Given the description of an element on the screen output the (x, y) to click on. 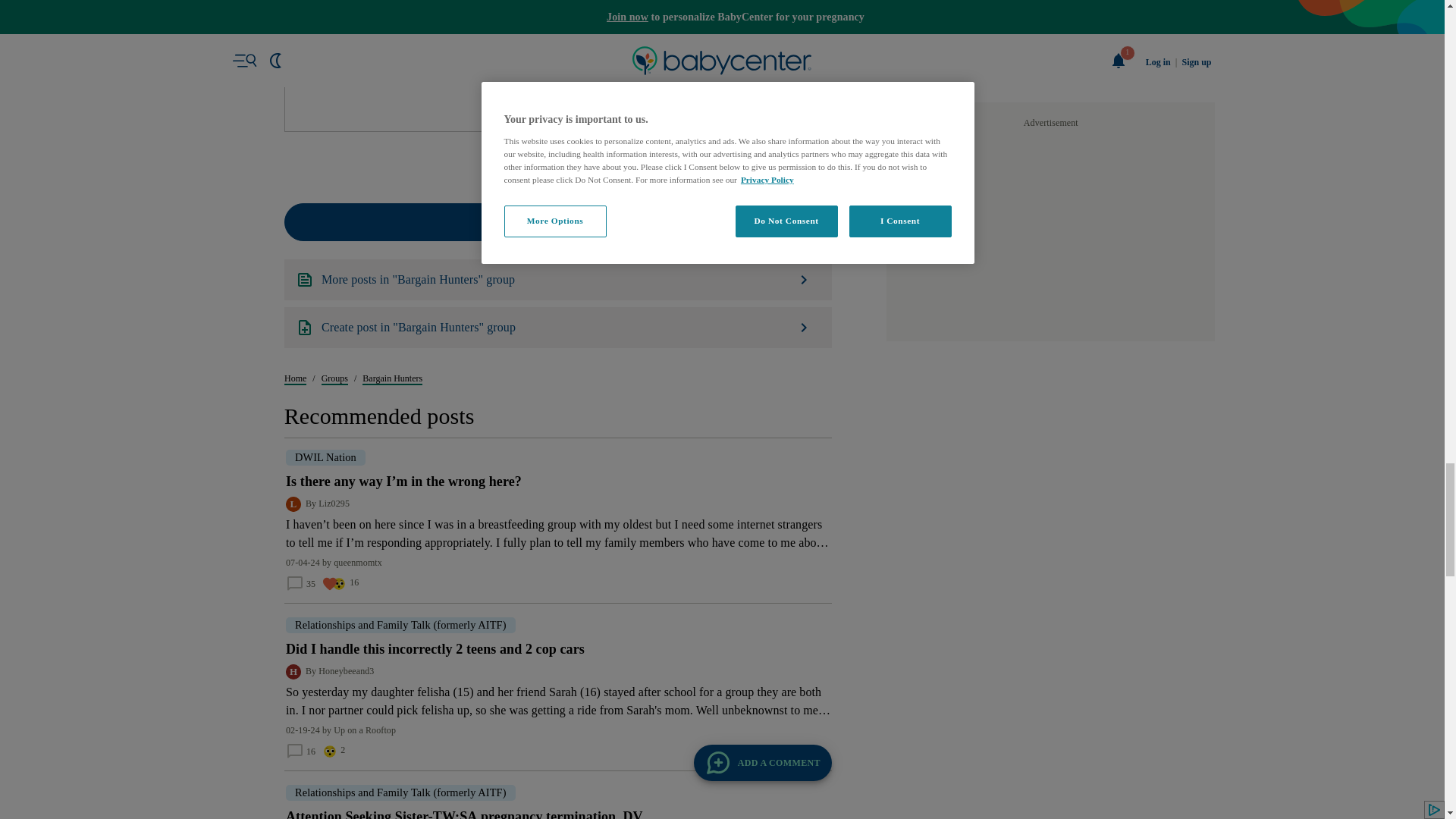
1 (538, 707)
Go to page number (538, 707)
